Given the description of an element on the screen output the (x, y) to click on. 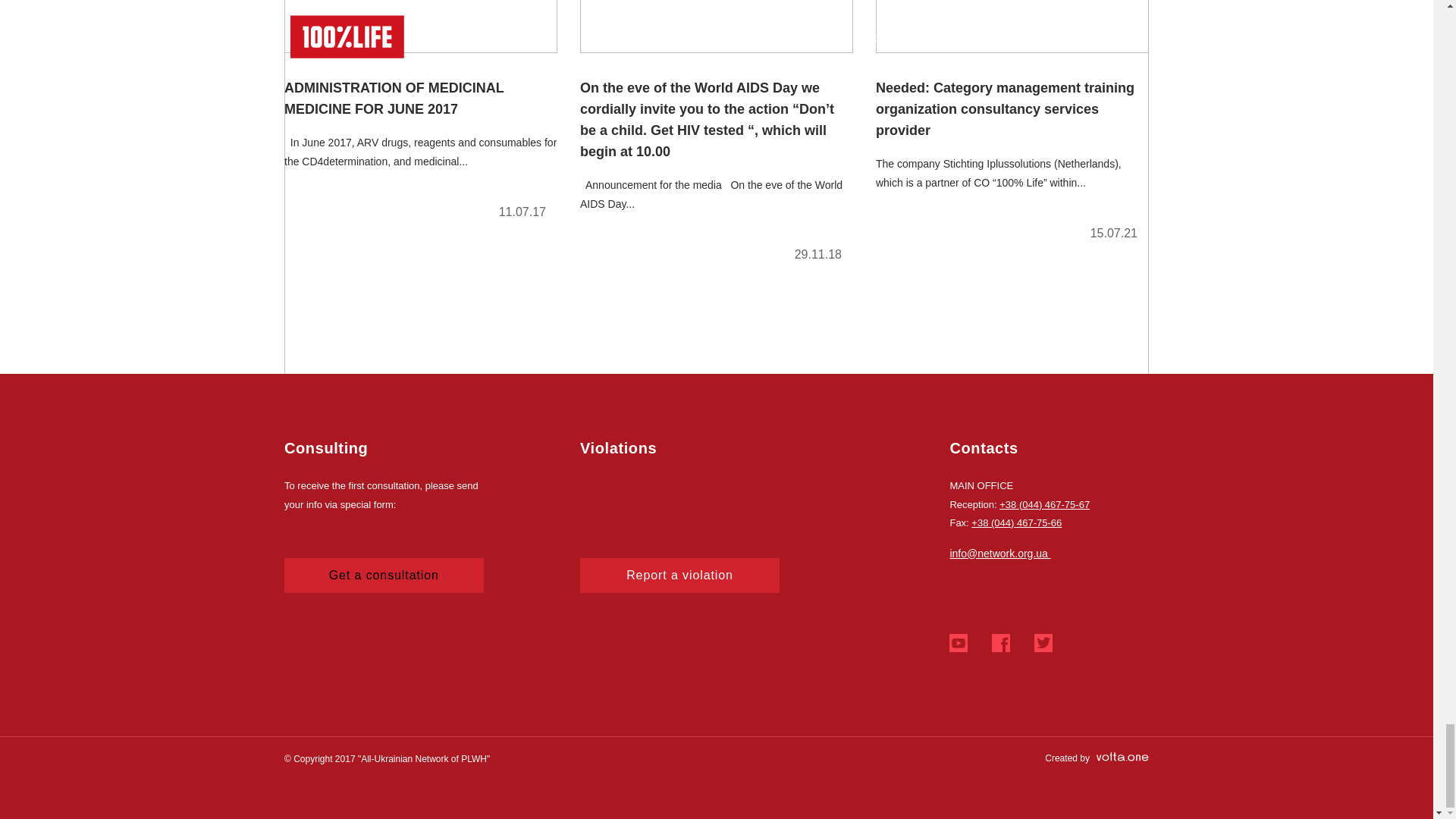
Get a consultation (383, 574)
Created by (1096, 757)
Get a consultation (383, 574)
Report a violation (678, 574)
Report a violation (678, 574)
ADMINISTRATION OF MEDICINAL MEDICINE FOR JUNE 2017 (420, 116)
